Given the description of an element on the screen output the (x, y) to click on. 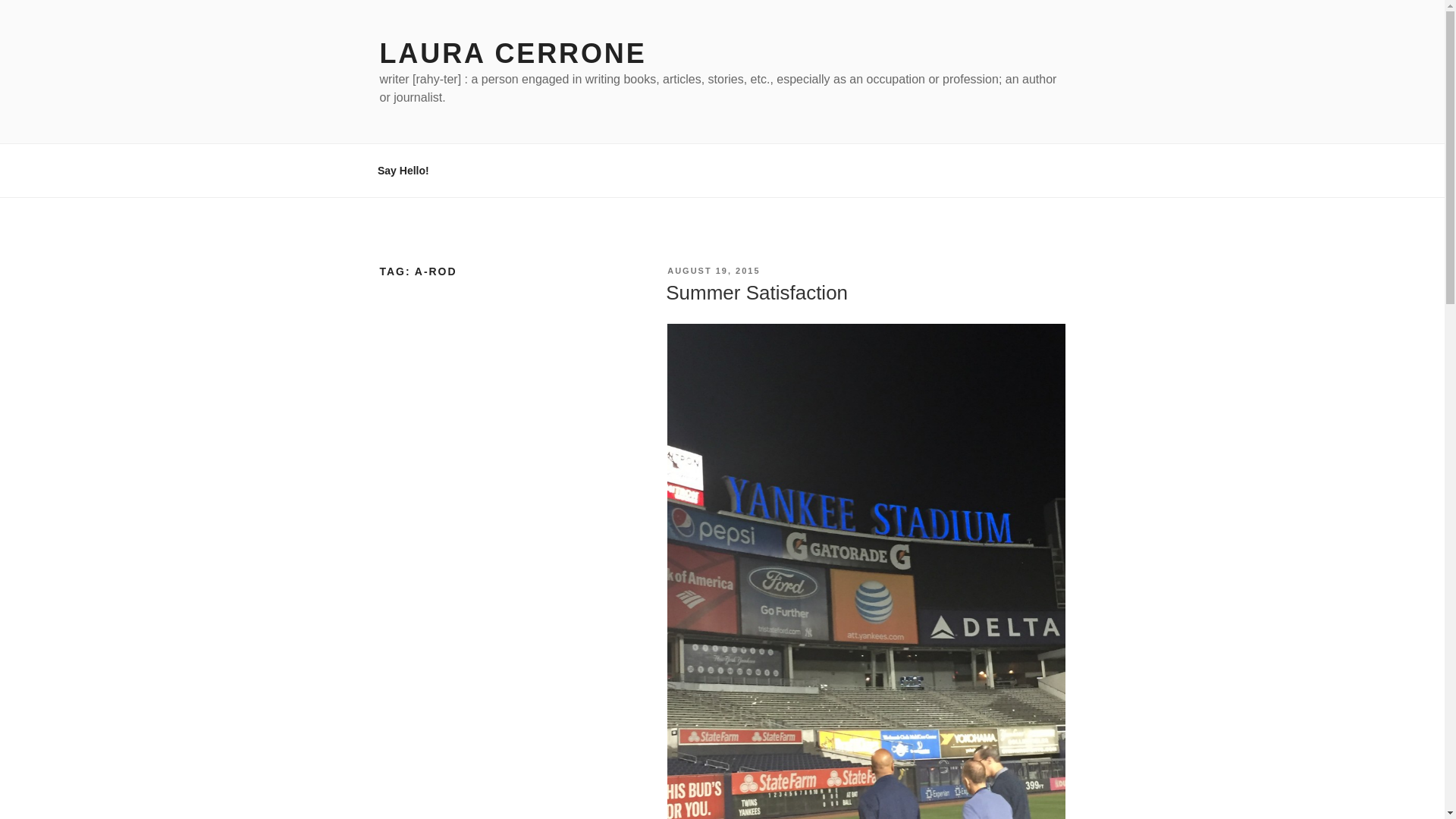
LAURA CERRONE (512, 52)
Summer Satisfaction (756, 292)
Say Hello! (403, 170)
AUGUST 19, 2015 (713, 270)
